Given the description of an element on the screen output the (x, y) to click on. 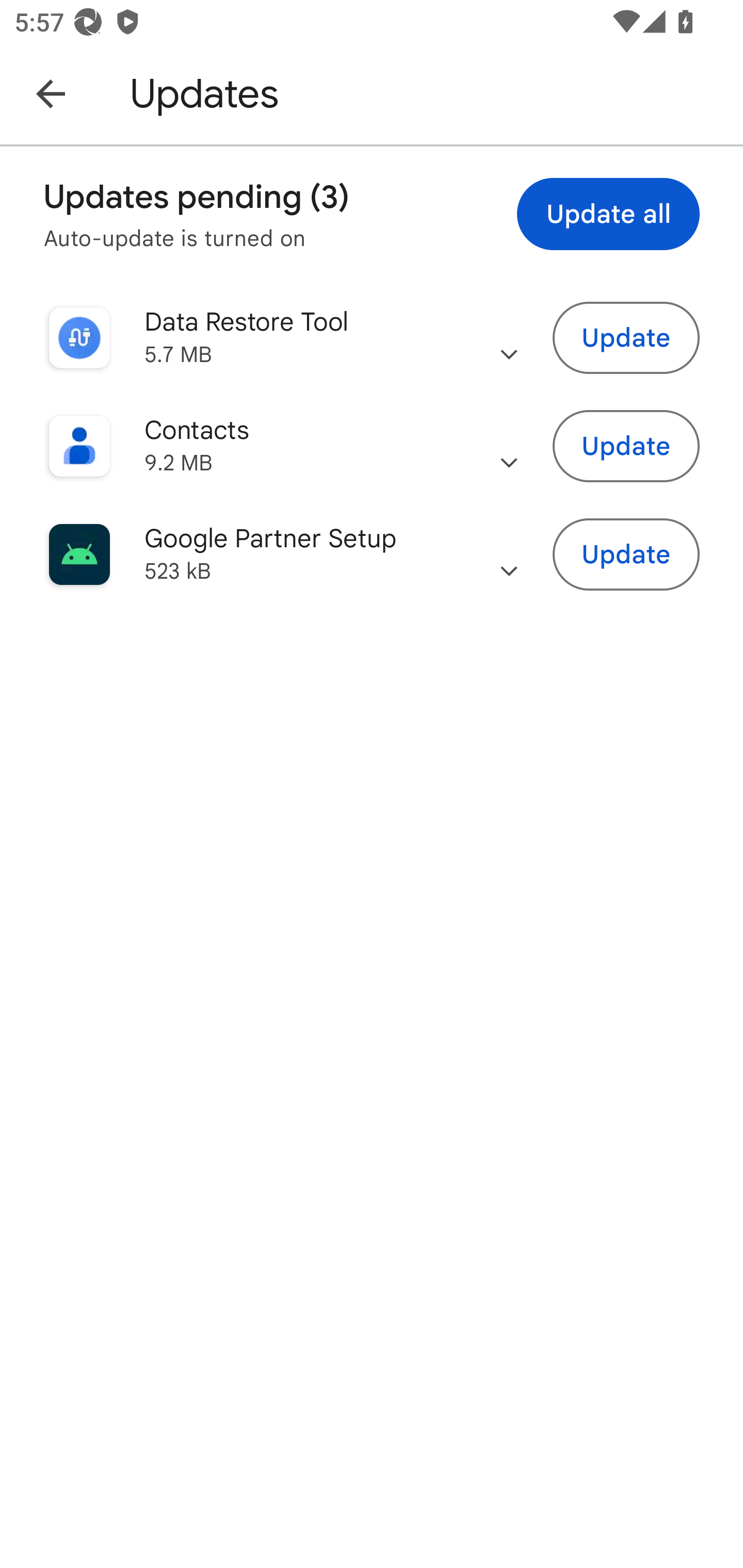
Navigate up (50, 92)
Update all (608, 213)
Changes in the app (508, 337)
Update (625, 337)
Changes in the app (508, 446)
Update (625, 446)
Changes in the app (508, 554)
Update (625, 555)
